Given the description of an element on the screen output the (x, y) to click on. 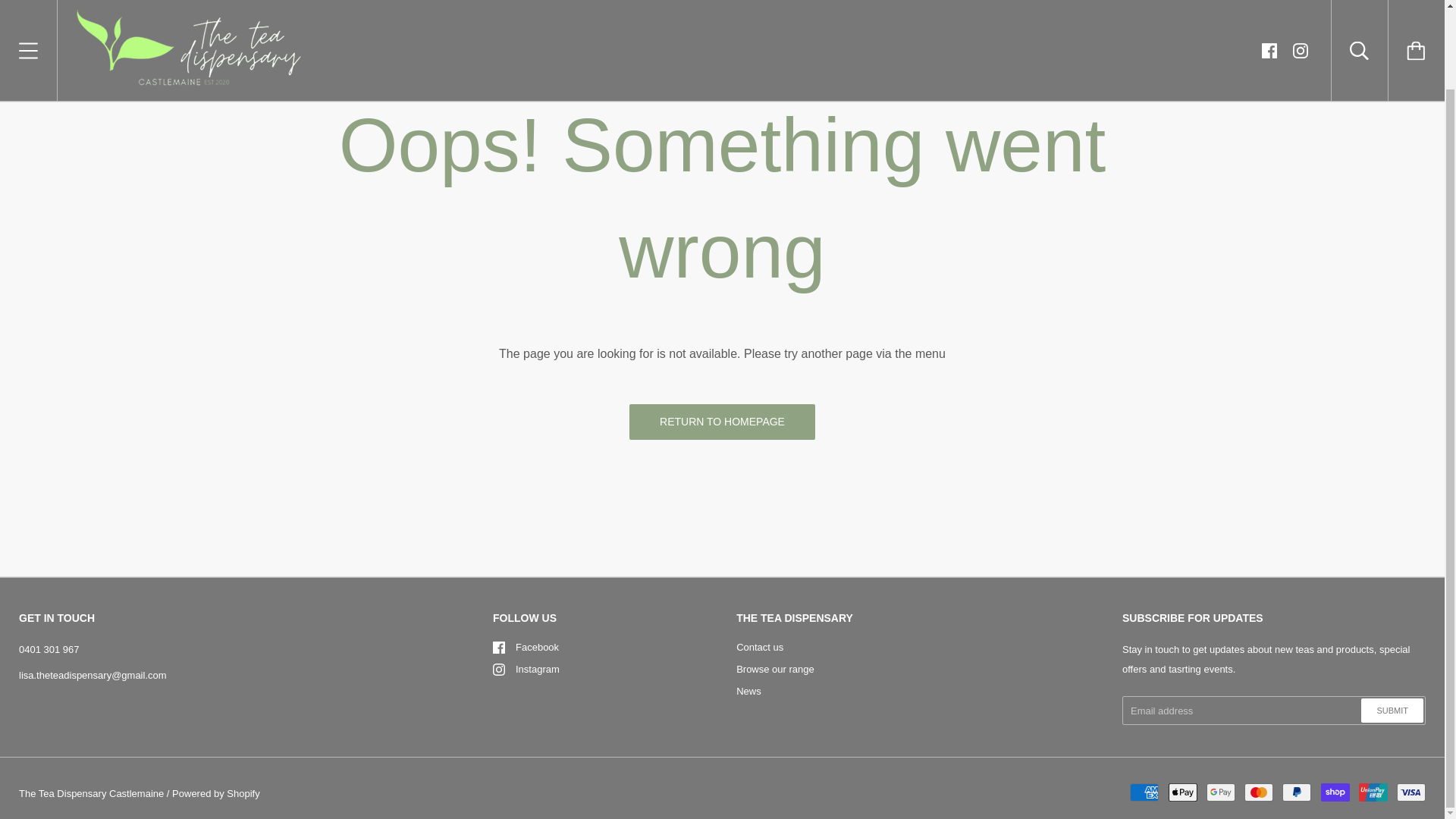
Apple Pay (1182, 791)
Powered by Shopify (215, 793)
RETURN TO HOMEPAGE (721, 421)
News (748, 690)
Instagram (499, 669)
HOME (32, 63)
Shop Pay (1334, 791)
American Express (1143, 791)
SUBMIT (1392, 710)
Visa (1410, 791)
PayPal (1296, 791)
Union Pay (1372, 791)
Instagram Instagram (526, 668)
Facebook Facebook (526, 646)
Contact us (759, 646)
